Given the description of an element on the screen output the (x, y) to click on. 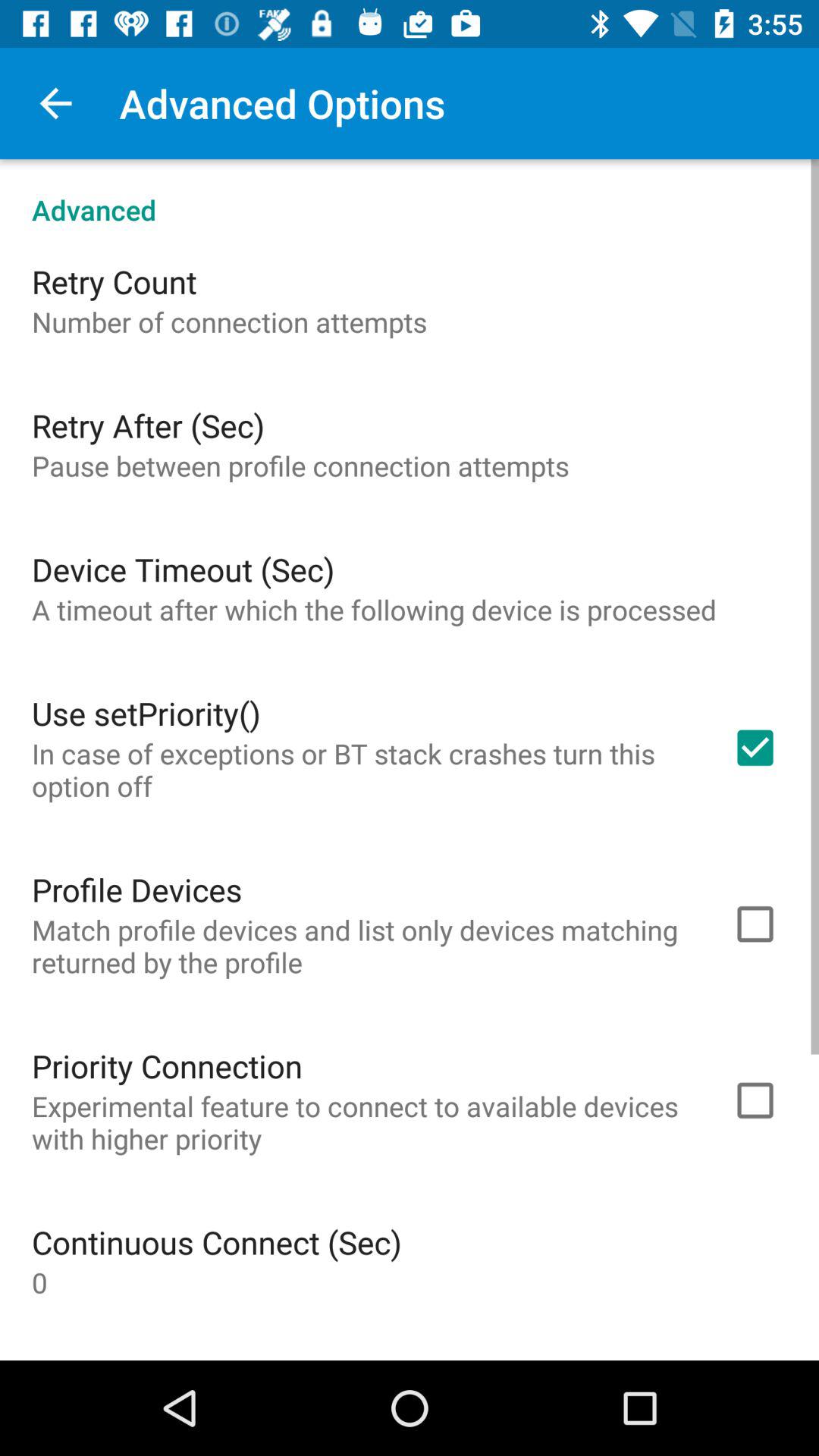
select icon to the left of the advanced options app (55, 103)
